Given the description of an element on the screen output the (x, y) to click on. 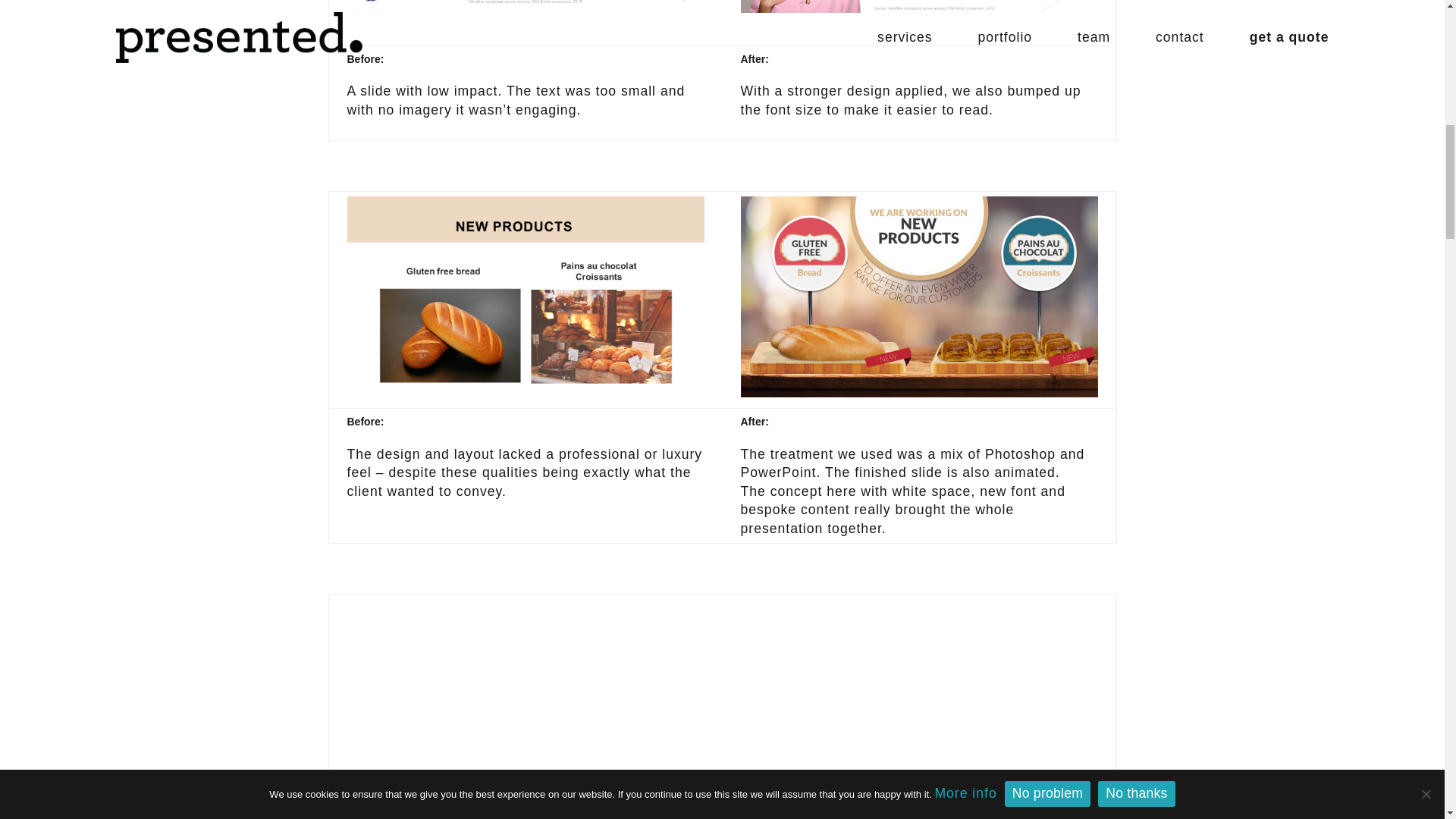
Presented is a recommended PowerPoint design company 5 (525, 699)
Presented is a recommended PowerPoint design company 4 (918, 296)
Presented is a recommended PowerPoint design company 1 (525, 6)
Presented is a recommended PowerPoint design company 6 (918, 699)
Presented is a recommended PowerPoint design company 2 (918, 6)
Presented is a recommended PowerPoint design company 3 (525, 296)
